Given the description of an element on the screen output the (x, y) to click on. 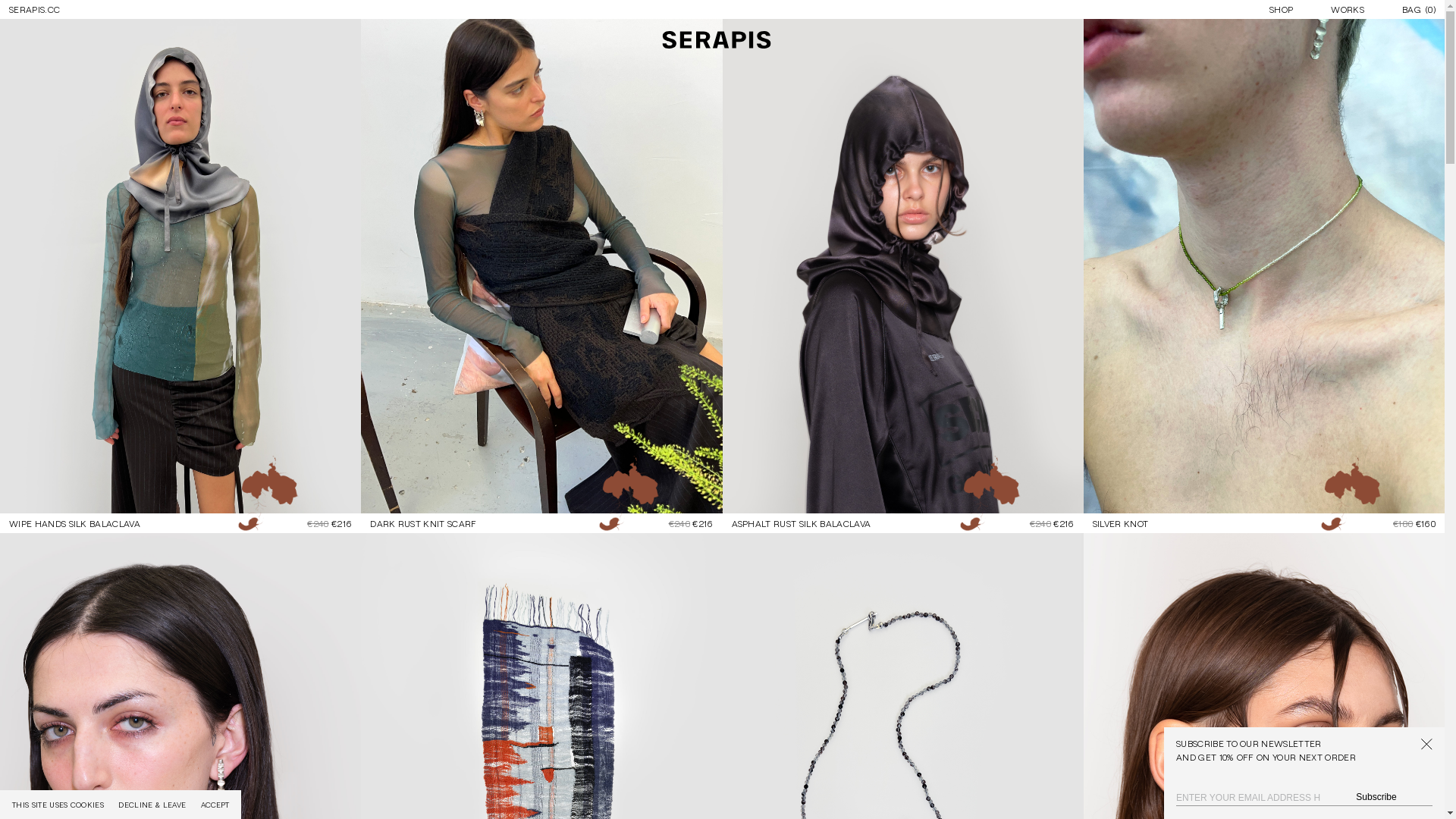
Search for: Element type: hover (722, 9)
ACCEPT Element type: text (214, 804)
SERAPIS.CC Element type: text (34, 9)
SHOP Element type: text (1280, 9)
Subscribe Element type: text (1376, 796)
BAG(0) Element type: text (1421, 9)
WORKS Element type: text (1347, 9)
DECLINE & LEAVE Element type: text (151, 804)
Search Element type: text (18, 6)
